Given the description of an element on the screen output the (x, y) to click on. 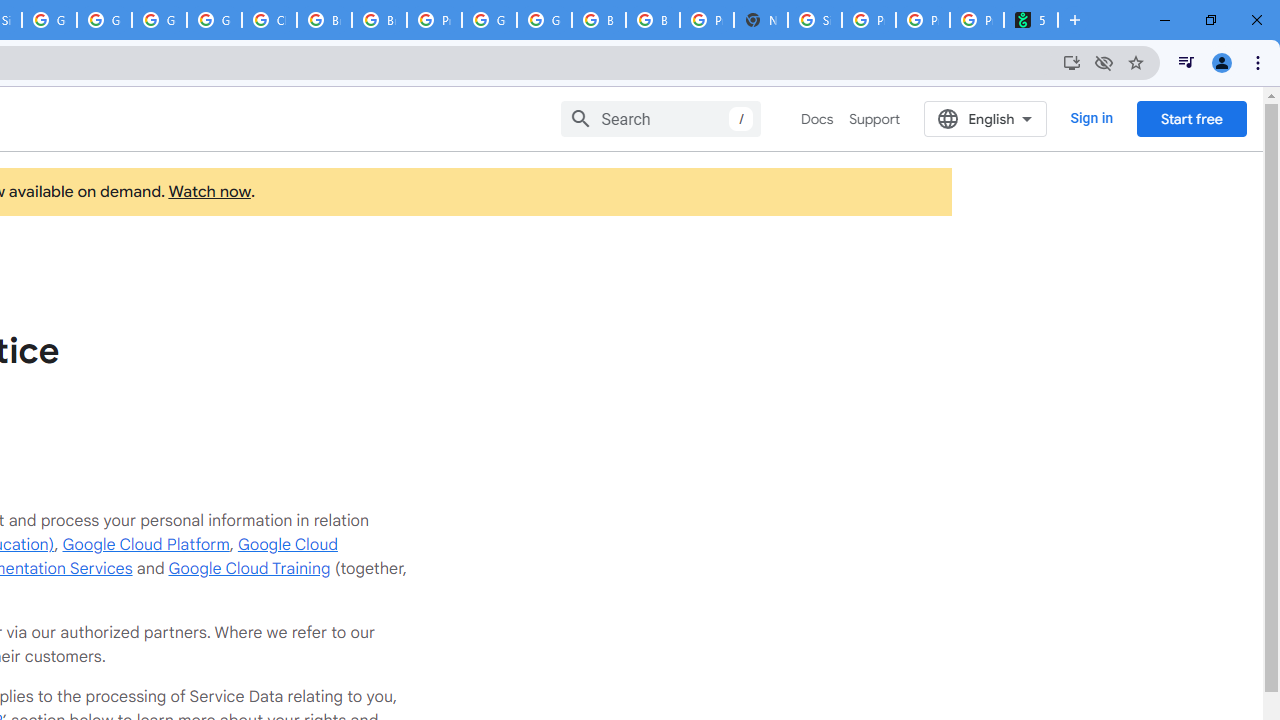
Google Cloud Platform (158, 20)
Support (874, 119)
Google Cloud Training (249, 568)
English (985, 118)
Sign in - Google Accounts (815, 20)
Watch now (208, 192)
